Given the description of an element on the screen output the (x, y) to click on. 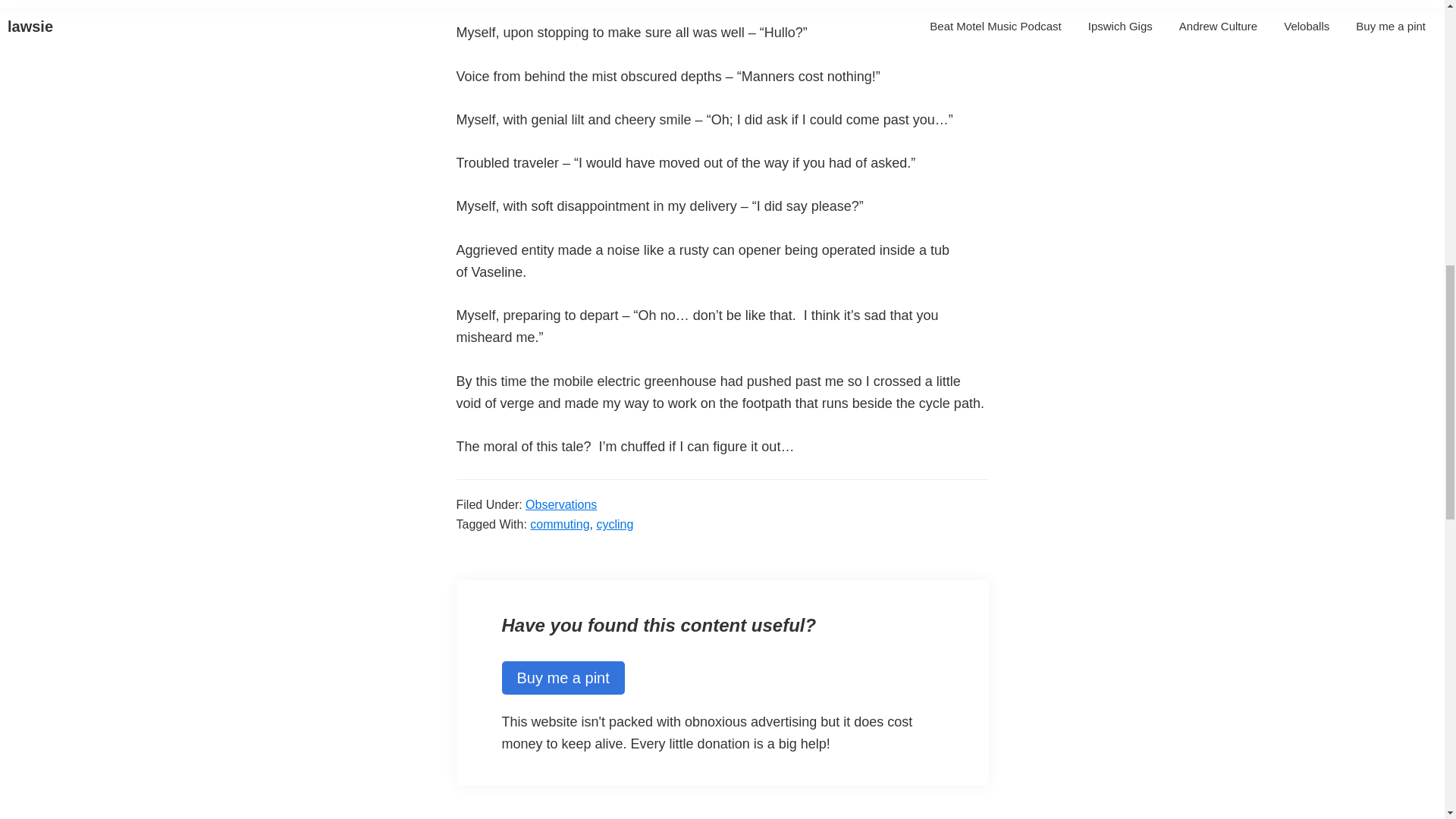
Buy me a pint (563, 677)
Observations (560, 504)
cycling (614, 523)
commuting (559, 523)
